Given the description of an element on the screen output the (x, y) to click on. 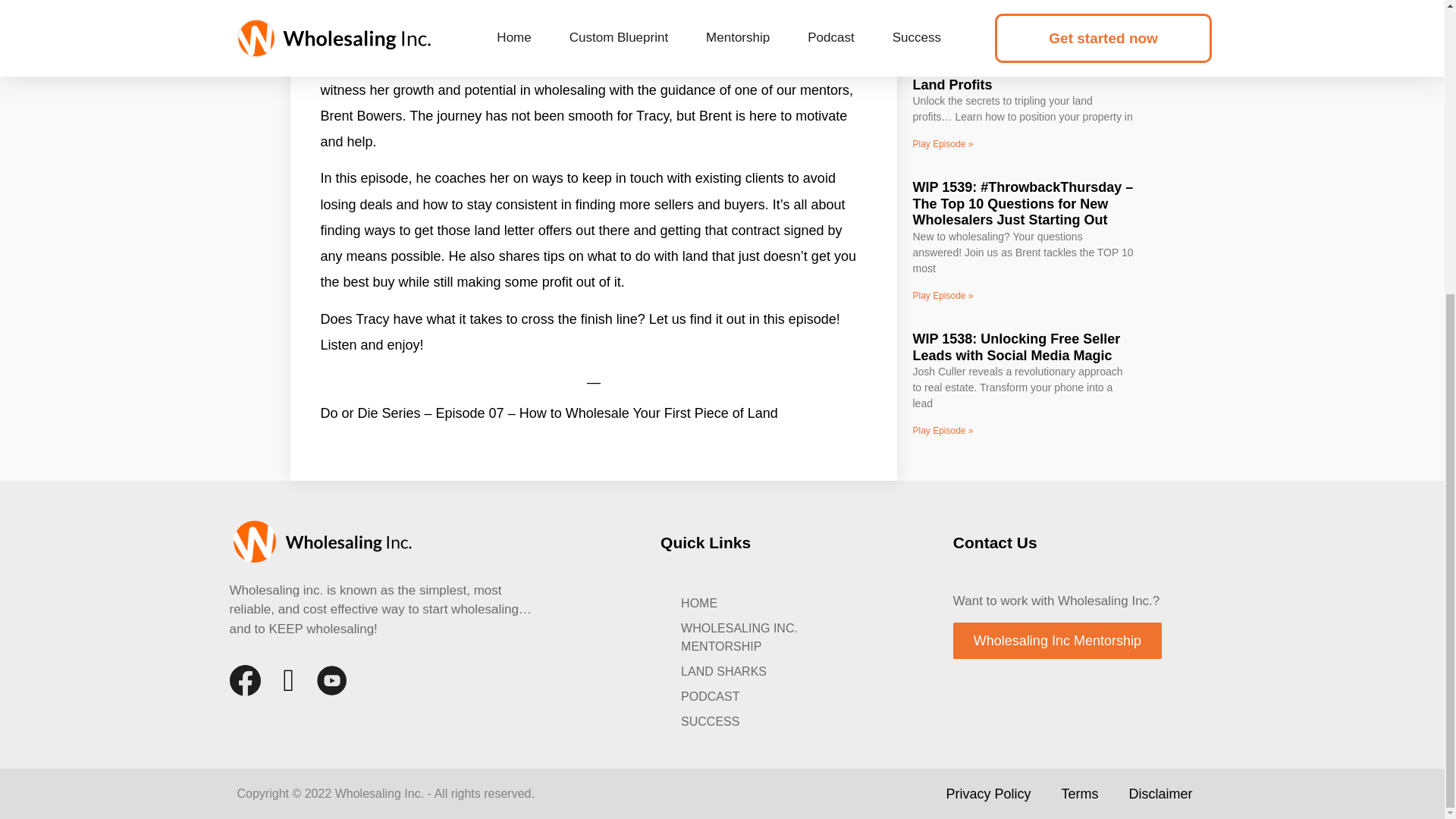
Wholesaling Inc Mentorship (1057, 640)
PODCAST (769, 696)
WIP 1540: How to Triple Your Land Profits (1005, 76)
WHOLESALING INC. MENTORSHIP (769, 637)
LAND SHARKS (769, 671)
